Given the description of an element on the screen output the (x, y) to click on. 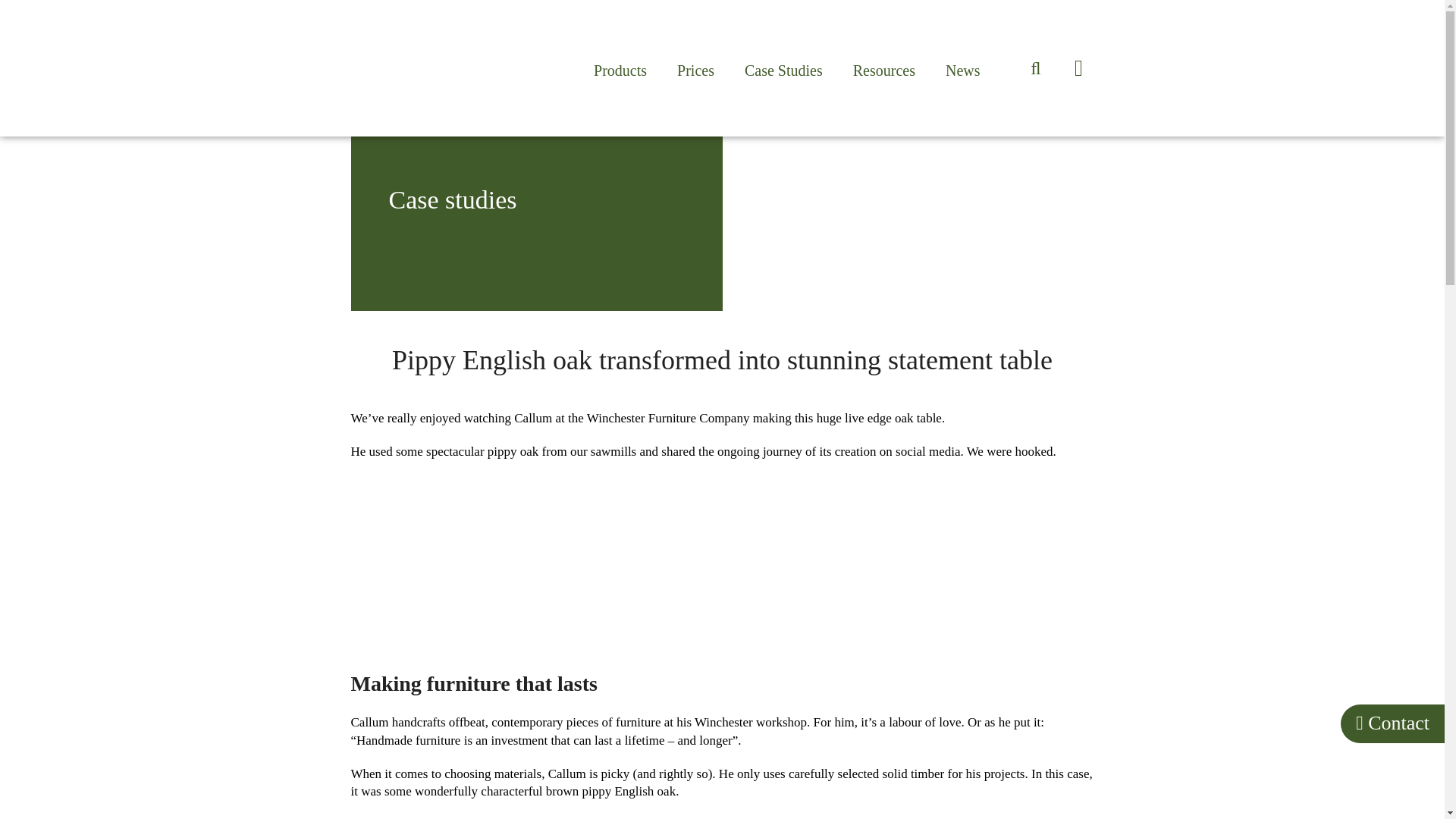
News (961, 69)
Search (1002, 41)
Products (620, 69)
Resources (884, 69)
Case Studies (783, 69)
Prices (695, 69)
